Given the description of an element on the screen output the (x, y) to click on. 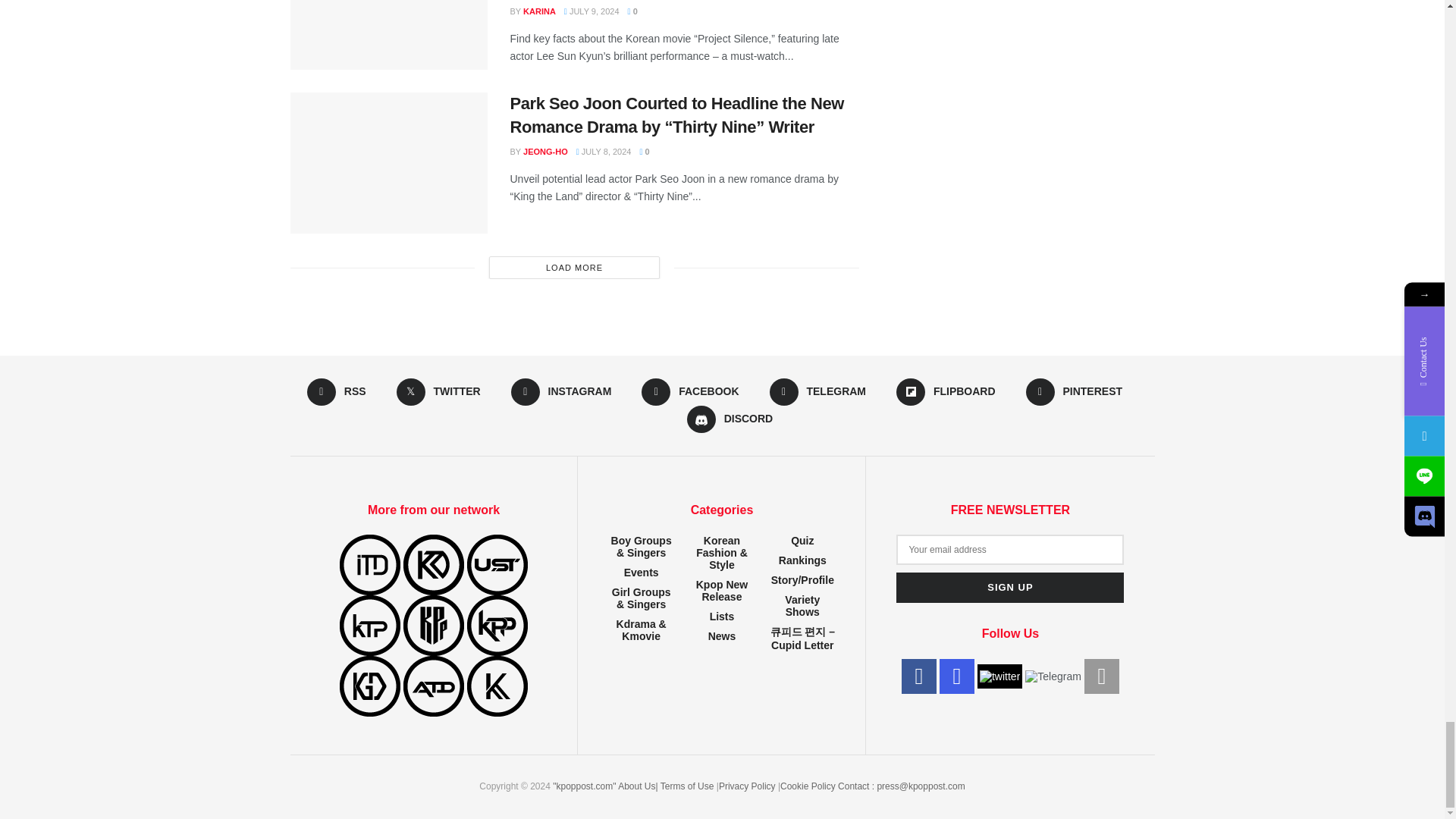
facebook (918, 676)
Sign up (1010, 587)
